Given the description of an element on the screen output the (x, y) to click on. 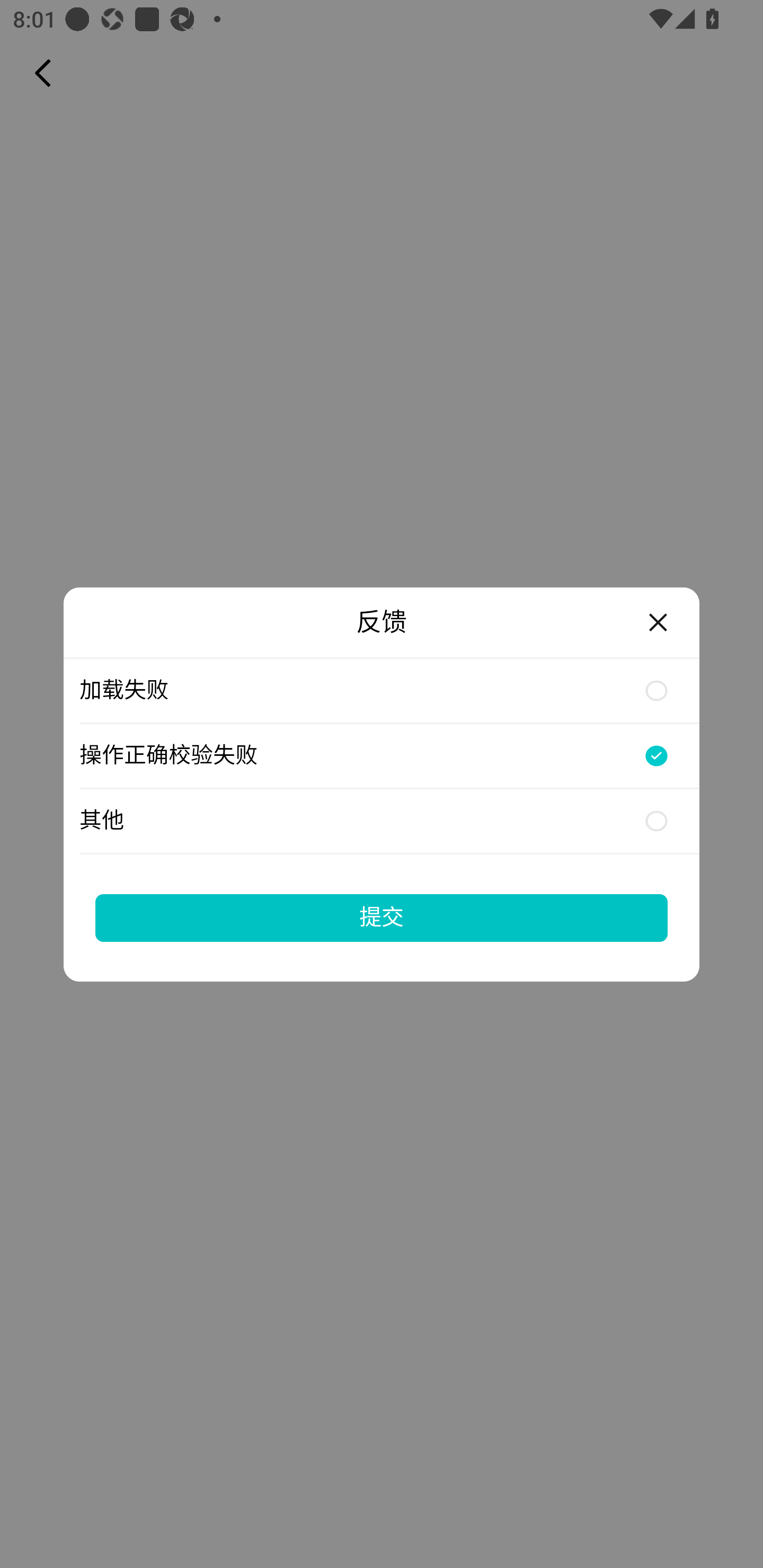
提交 (381, 917)
